Given the description of an element on the screen output the (x, y) to click on. 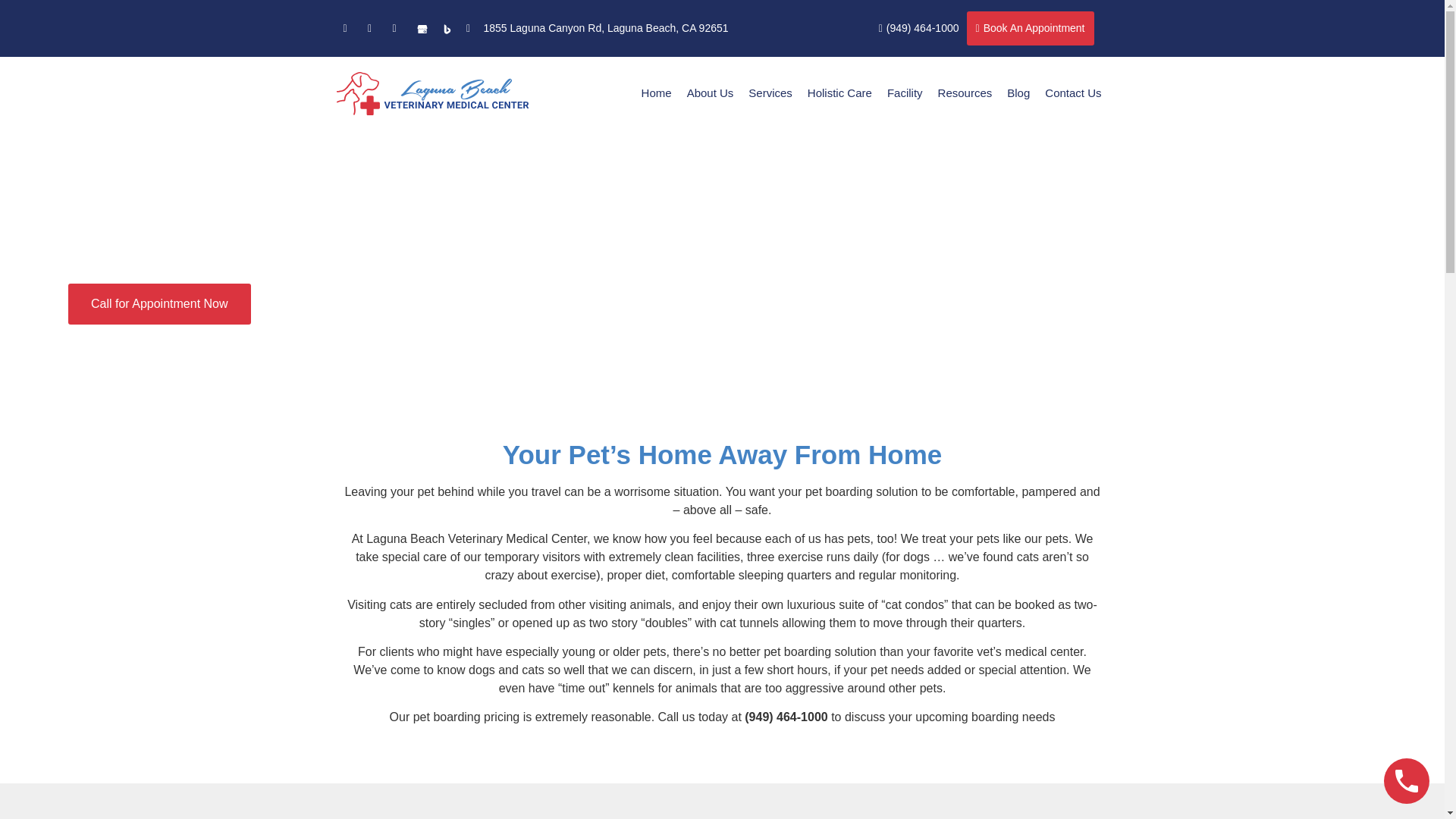
Services (770, 93)
Book An Appointment (1029, 28)
Resources (965, 93)
About Us (710, 93)
Holistic Care (839, 93)
1855 Laguna Canyon Rd, Laguna Beach, CA 92651 (597, 28)
Home (656, 93)
Facility (904, 93)
